Given the description of an element on the screen output the (x, y) to click on. 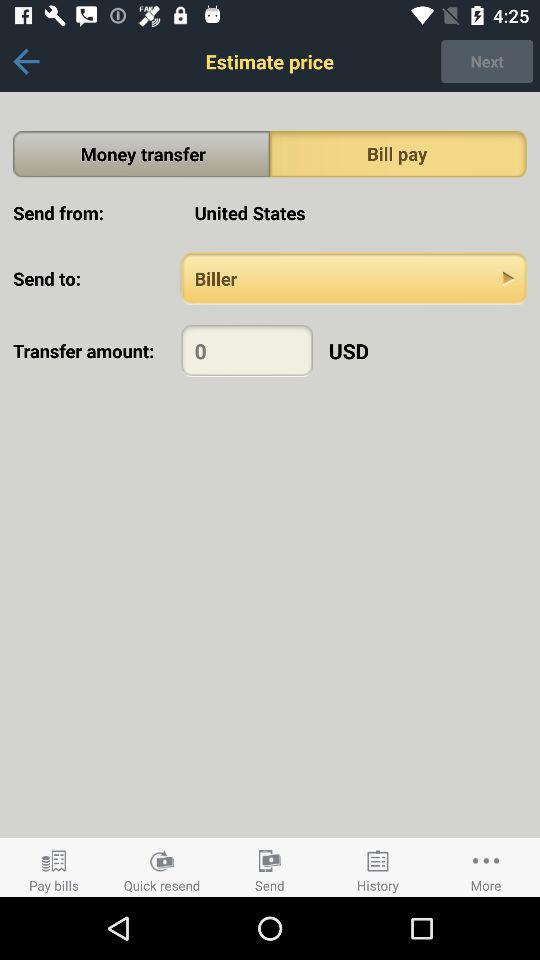
turn on item to the left of the estimate price app (26, 61)
